Given the description of an element on the screen output the (x, y) to click on. 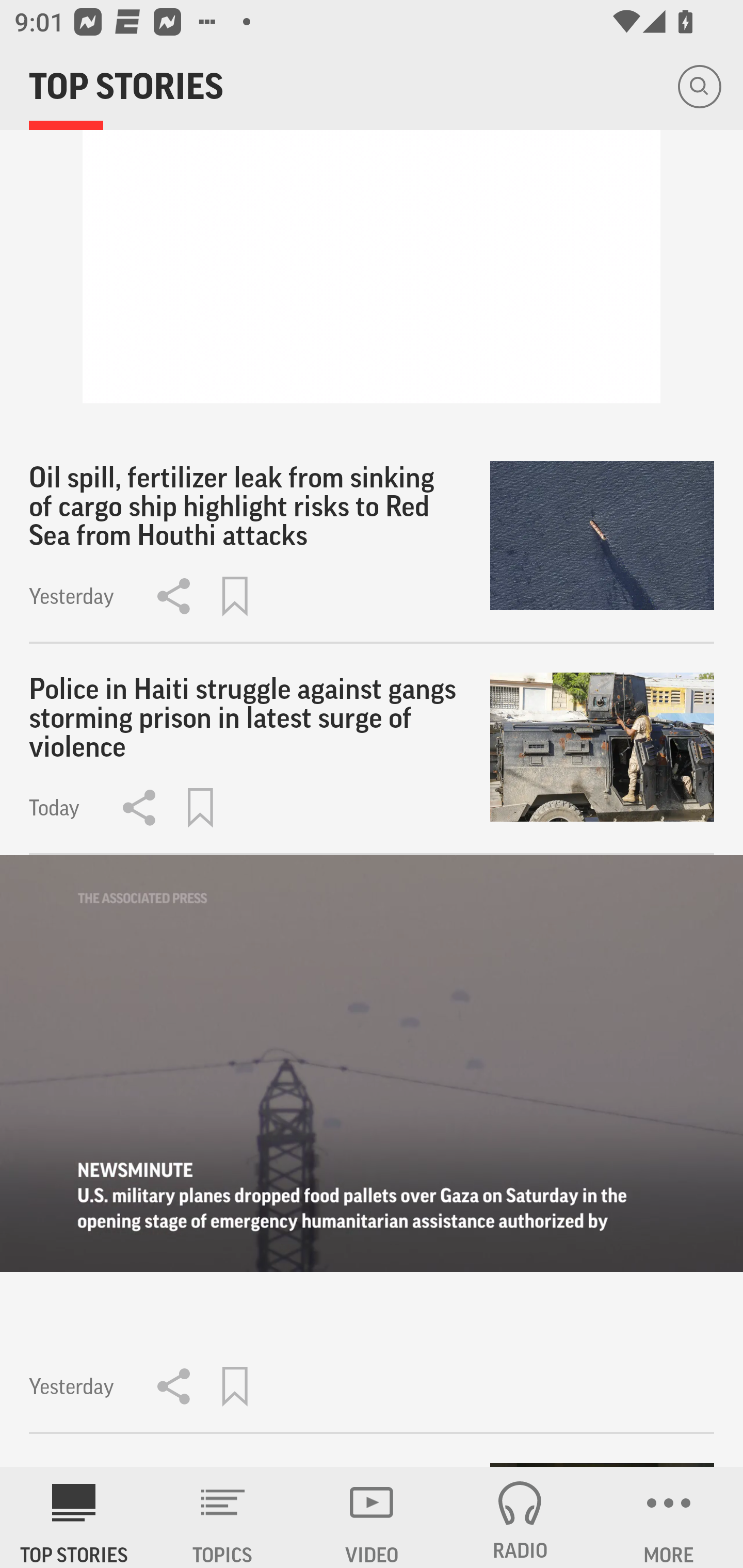
toggle controls Yesterday (371, 1143)
toggle controls (371, 1062)
AP News TOP STORIES (74, 1517)
TOPICS (222, 1517)
VIDEO (371, 1517)
RADIO (519, 1517)
MORE (668, 1517)
